Given the description of an element on the screen output the (x, y) to click on. 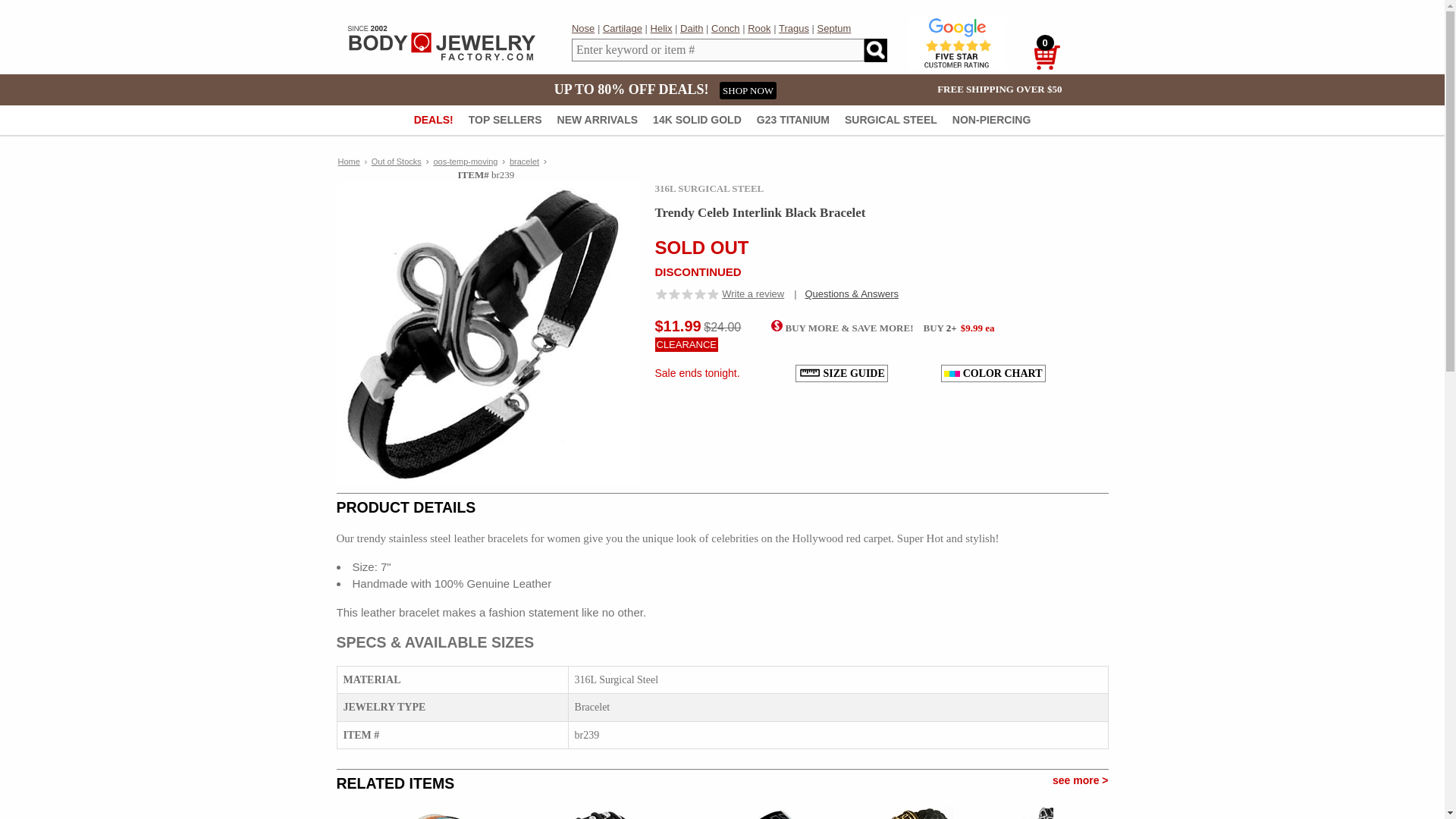
Daith (691, 28)
Helix (661, 28)
Conch (725, 28)
Nose (583, 28)
Tragus (793, 28)
Septum (833, 28)
Rook (759, 28)
NEW ARRIVALS (598, 120)
TOP SELLERS (504, 120)
DEALS! (432, 120)
